Given the description of an element on the screen output the (x, y) to click on. 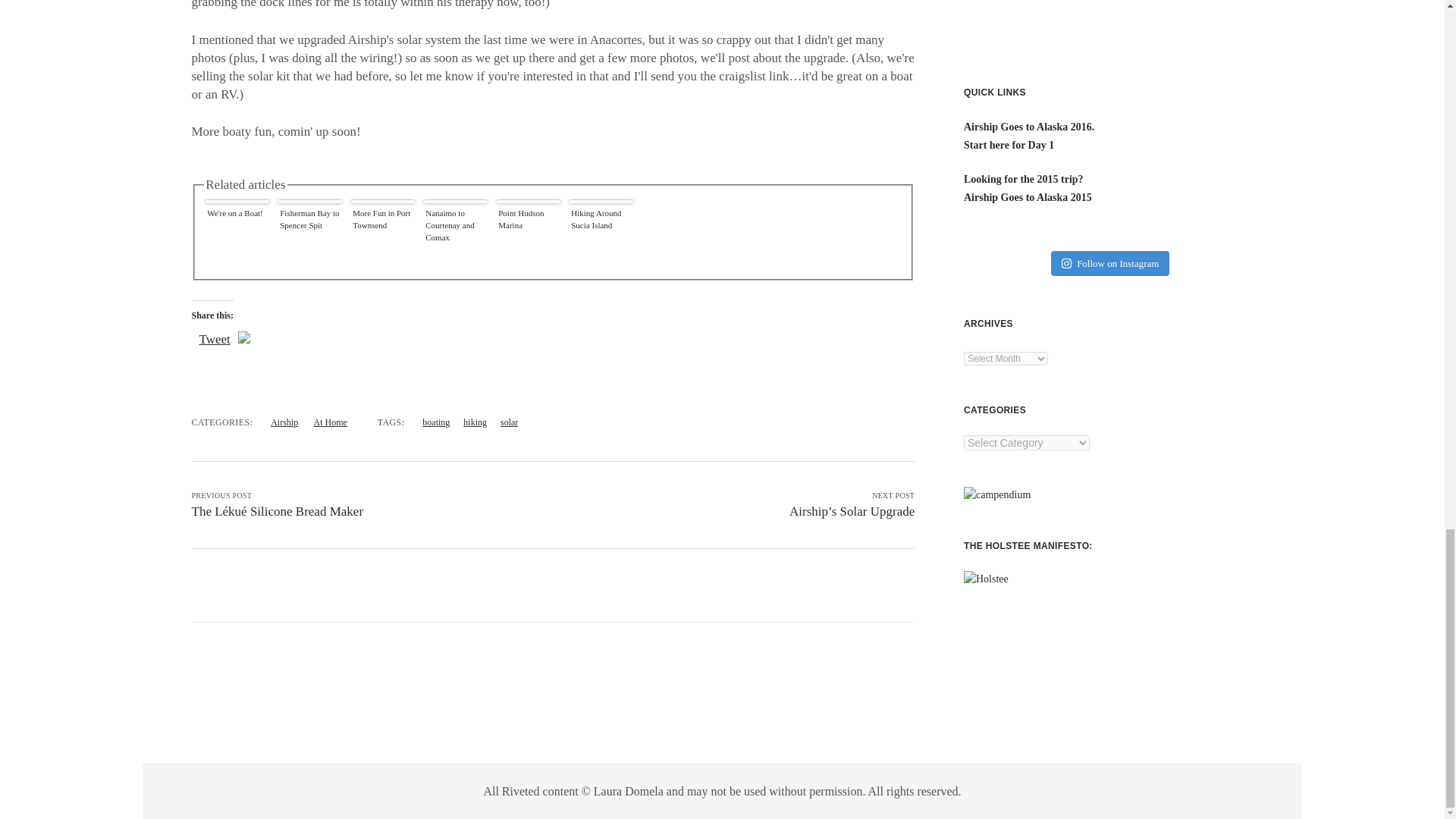
Fisherman Bay to Spencer Spit (310, 233)
Nanaimo to Courtenay and Comax (455, 233)
View all posts tagged hiking (474, 421)
We're on a Boat! (237, 233)
View all posts tagged boating (435, 421)
Airship (284, 421)
More Fun in Port Townsend (382, 233)
Tweet (214, 339)
View all posts tagged solar (509, 421)
solar (509, 421)
